Given the description of an element on the screen output the (x, y) to click on. 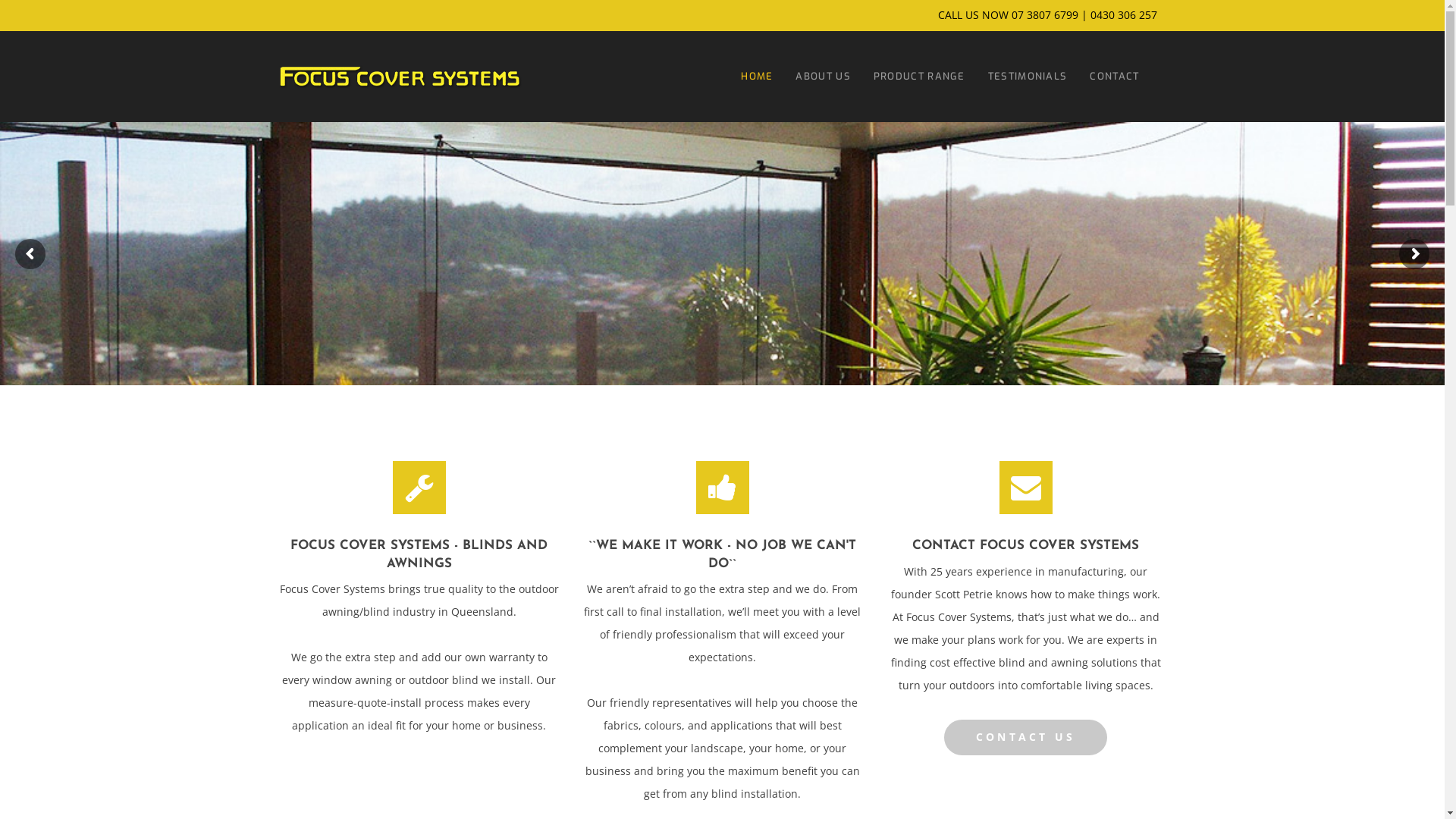
FOCUS COVER SYSTEMS - BLINDS AND AWNINGS Element type: text (419, 554)
TESTIMONIALS Element type: text (1027, 76)
CONTACT US Element type: text (1025, 737)
HOME Element type: text (756, 76)
ABOUT US Element type: text (822, 76)
CONTACT Element type: text (1114, 76)
Focus Cover Systems Element type: hover (400, 76)
PRODUCT RANGE Element type: text (919, 76)
CONTACT FOCUS COVER SYSTEMS Element type: text (1025, 545)
``WE MAKE IT WORK - NO JOB WE CAN'T DO`` Element type: text (722, 554)
